Given the description of an element on the screen output the (x, y) to click on. 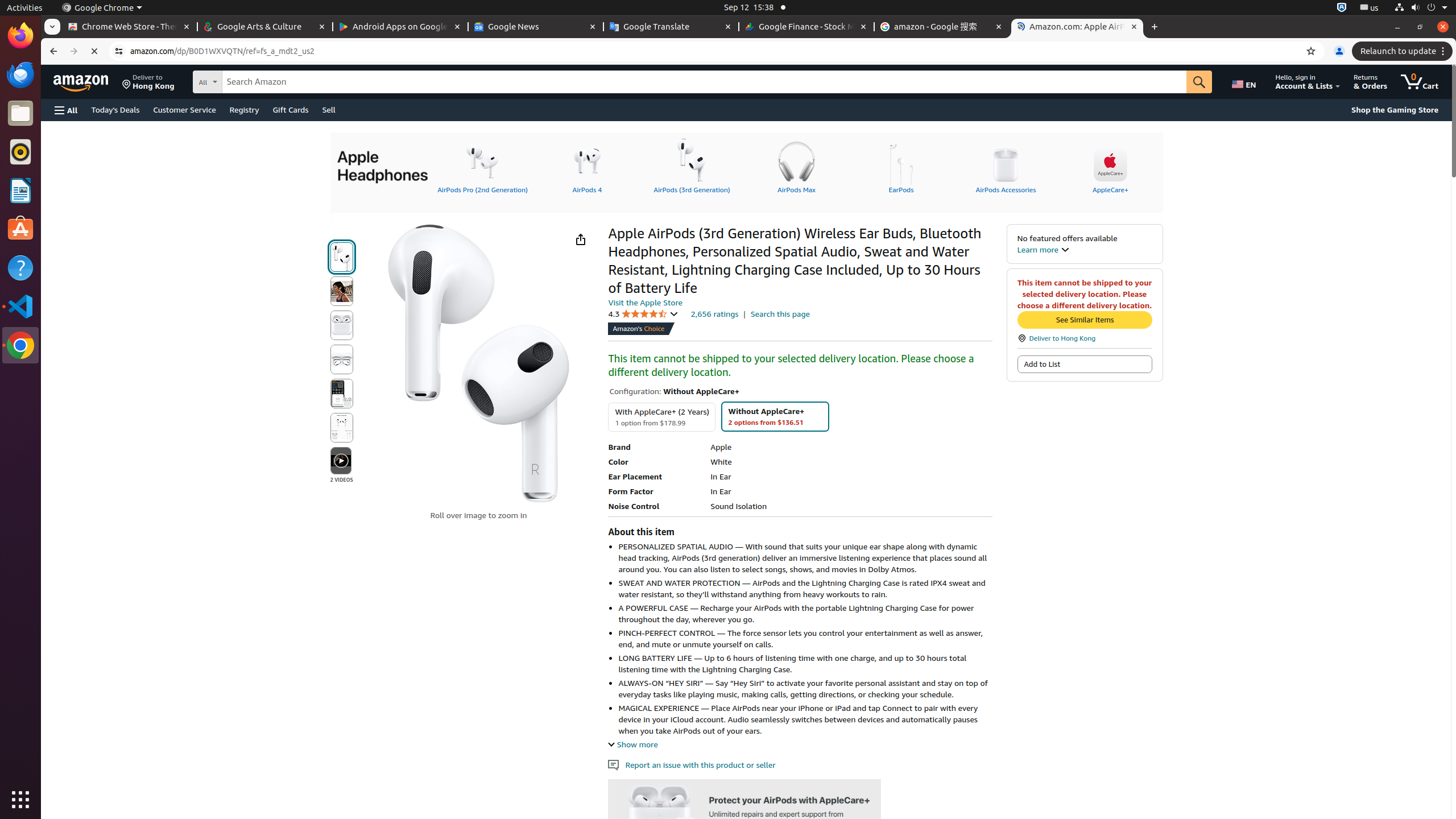
Show more Element type: push-button (632, 743)
Sell Element type: link (328, 109)
Files Element type: push-button (20, 113)
amazon - Google 搜索 - Memory usage - 86.9 MB Element type: page-tab (941, 26)
Shop the Gaming Store Element type: link (1394, 109)
